Given the description of an element on the screen output the (x, y) to click on. 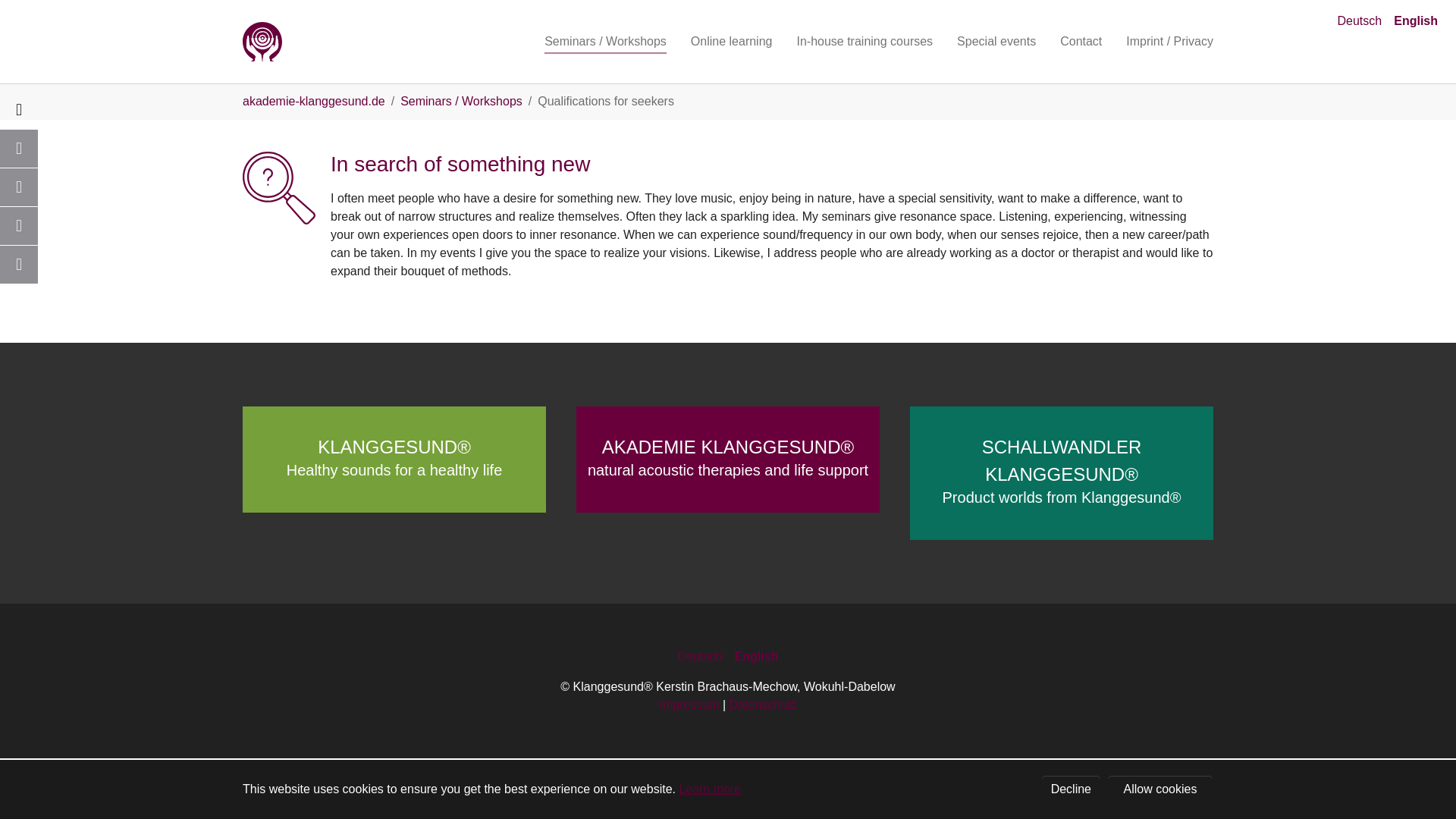
Deutsch (1359, 20)
Impressum (689, 704)
Special events (996, 41)
Contact (1080, 41)
Contact (1080, 41)
Englisch (1415, 20)
In-house training courses (864, 41)
Englisch (755, 656)
Online learning (731, 41)
akademie-klanggesund.de (314, 101)
